Given the description of an element on the screen output the (x, y) to click on. 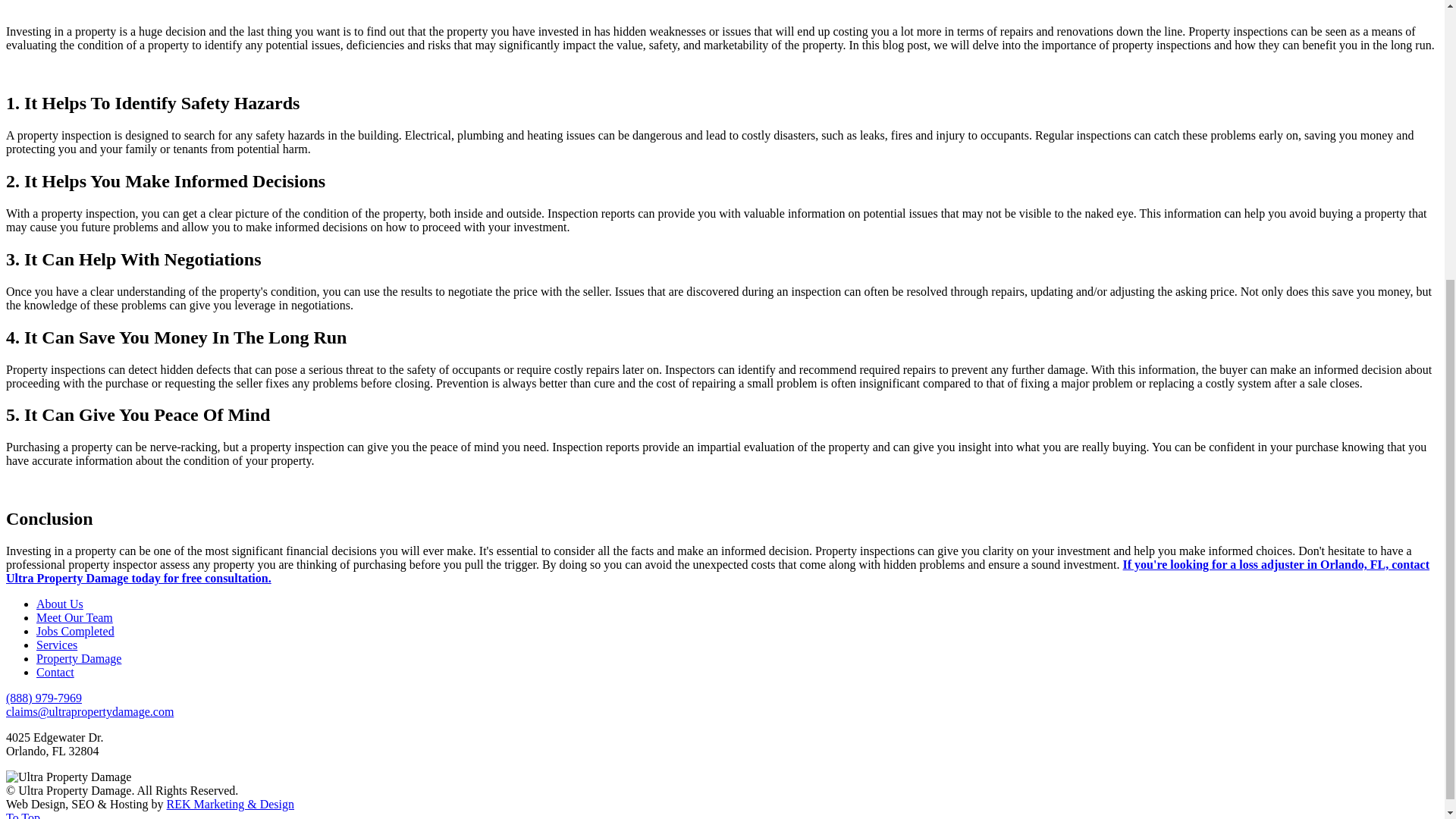
Meet Our Team (74, 617)
About Us (59, 603)
Contact (55, 671)
Property Damage (78, 658)
Jobs Completed (75, 631)
Services (56, 644)
